Given the description of an element on the screen output the (x, y) to click on. 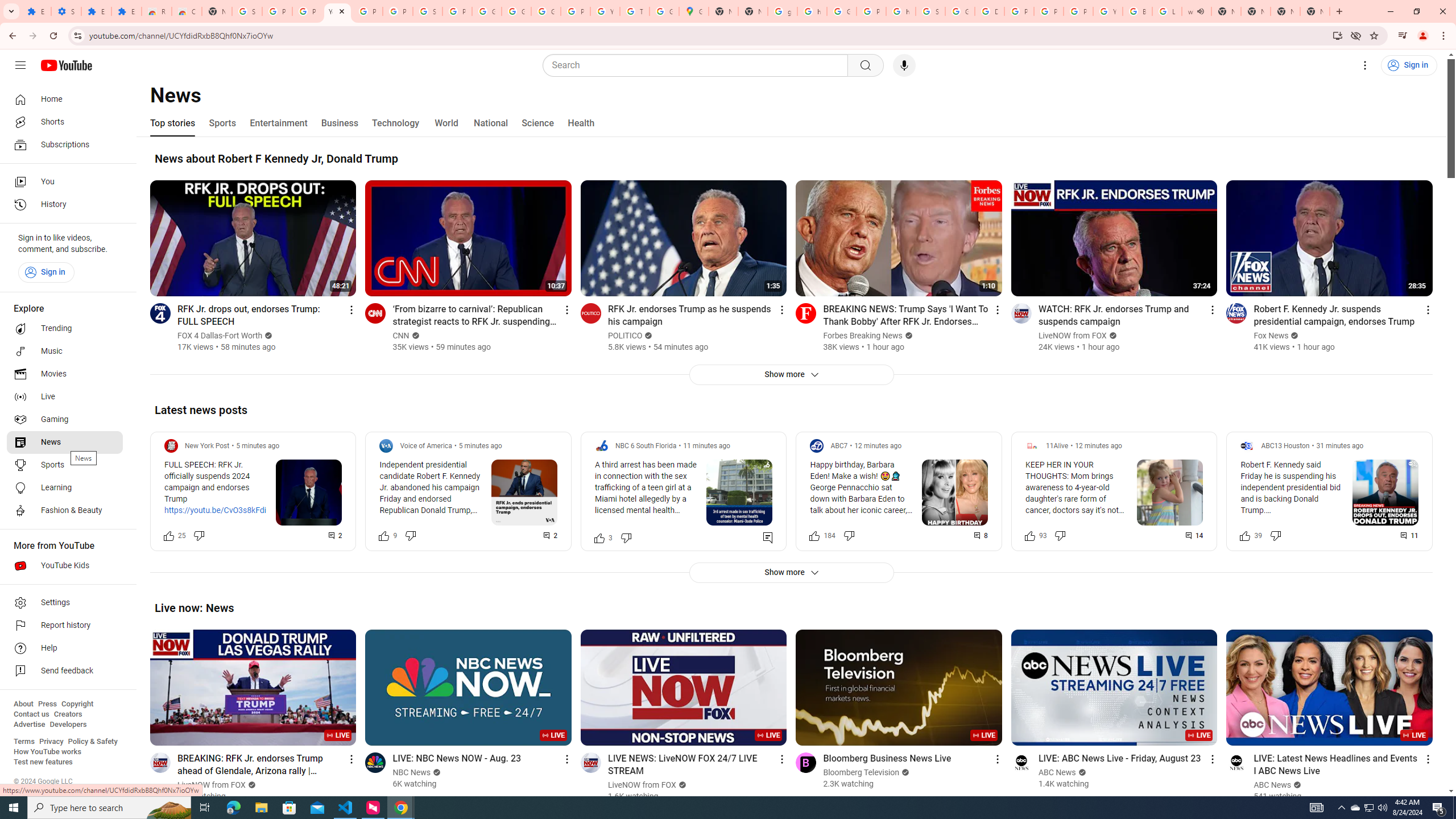
Search with your voice (903, 65)
World (446, 122)
Like this post along with 93 other people (1029, 534)
Privacy Help Center - Policies Help (1048, 11)
How YouTube works (47, 751)
New Tab (1314, 11)
11 minutes ago (706, 445)
